Given the description of an element on the screen output the (x, y) to click on. 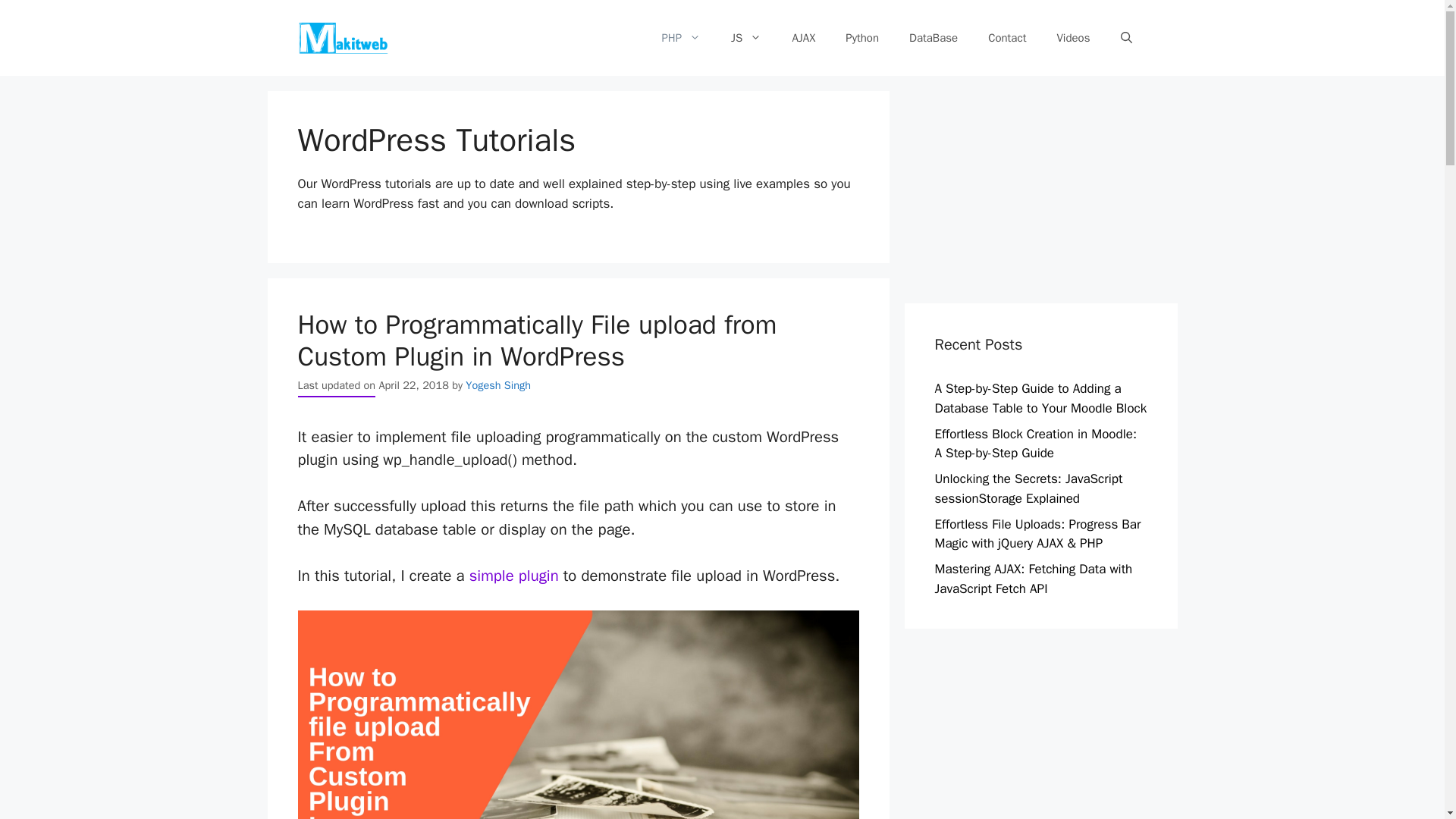
DataBase (932, 37)
PHP (681, 37)
View all posts by Yogesh Singh (498, 385)
Python (861, 37)
simple plugin (513, 575)
AJAX (802, 37)
JS (746, 37)
Contact (1006, 37)
Yogesh Singh (498, 385)
Videos (1073, 37)
